Given the description of an element on the screen output the (x, y) to click on. 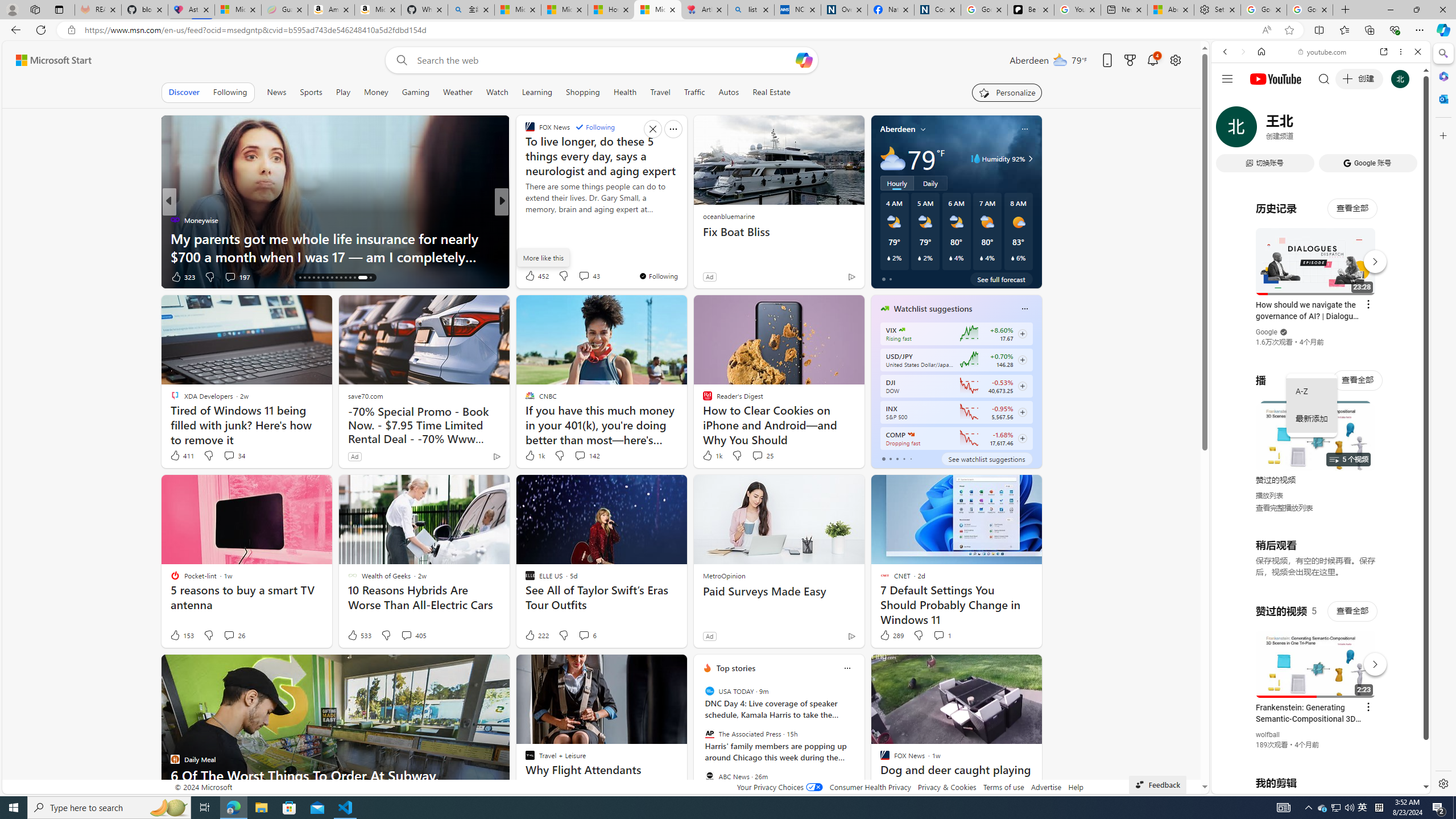
View comments 405 Comment (406, 635)
Real Estate (771, 92)
Cookies (937, 9)
View comments 405 Comment (413, 634)
AutomationID: tab-17 (304, 277)
View comments 1 Comment (938, 635)
